Given the description of an element on the screen output the (x, y) to click on. 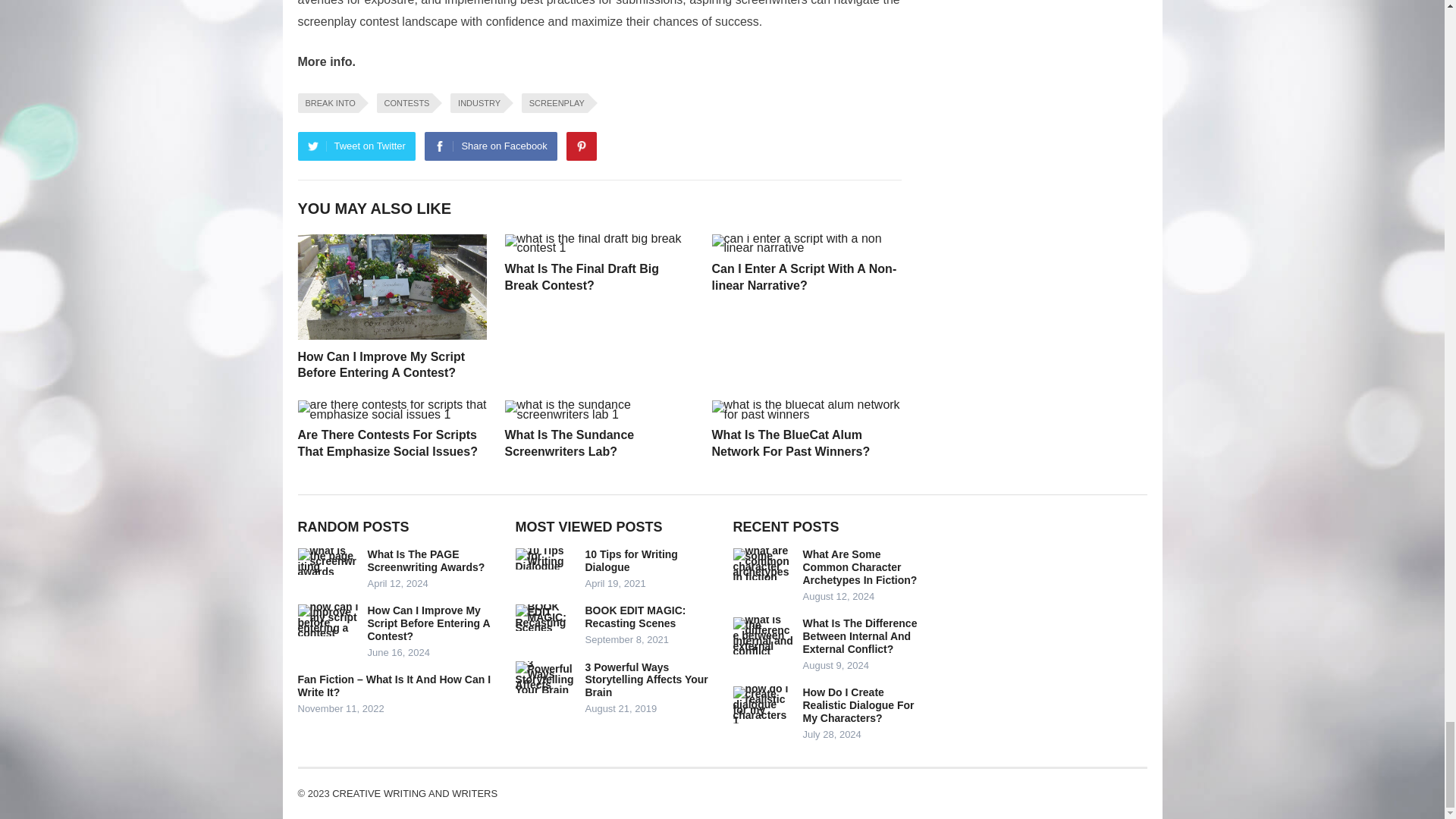
CONTESTS (404, 103)
Tweet on Twitter (355, 145)
What Is The Final Draft Big Break Contest? 4 (599, 243)
Can I Enter A Script With A Non-linear Narrative? 6 (805, 243)
What Is The BlueCat Alum Network For Past Winners? 12 (805, 410)
SCREENPLAY (554, 103)
What Is The Sundance Screenwriters Lab? 10 (599, 410)
More info. (326, 61)
Pinterest (581, 145)
How Can I Improve My Script Before Entering A Contest? 2 (391, 286)
